Given the description of an element on the screen output the (x, y) to click on. 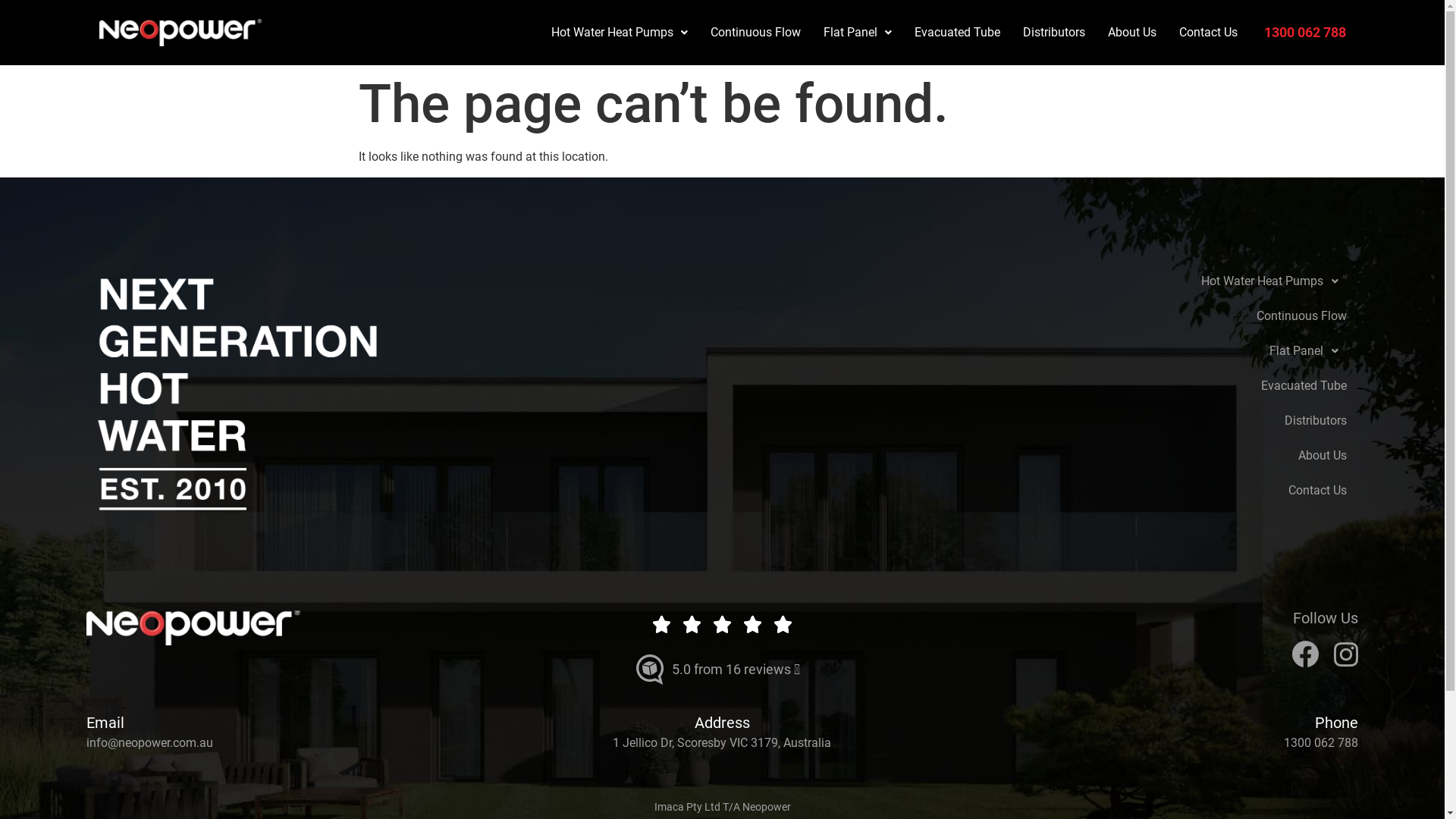
Evacuated Tube Element type: text (1255, 385)
Continuous Flow Element type: text (755, 32)
Flat Panel Element type: text (857, 32)
Contact Us Element type: text (1207, 32)
Continuous Flow Element type: text (1255, 315)
1300 062 788 Element type: text (1320, 742)
Distributors Element type: text (1255, 420)
About Us Element type: text (1255, 455)
Flat Panel Element type: text (1255, 350)
1300 062 788 Element type: text (1305, 32)
Distributors Element type: text (1053, 32)
Evacuated Tube Element type: text (957, 32)
Hot Water Heat Pumps Element type: text (1255, 280)
Hot Water Heat Pumps Element type: text (619, 32)
1 Jellico Dr, Scoresby VIC 3179, Australia Element type: text (721, 742)
About Us Element type: text (1131, 32)
Contact Us Element type: text (1255, 490)
info@neopower.com.au Element type: text (149, 742)
